Given the description of an element on the screen output the (x, y) to click on. 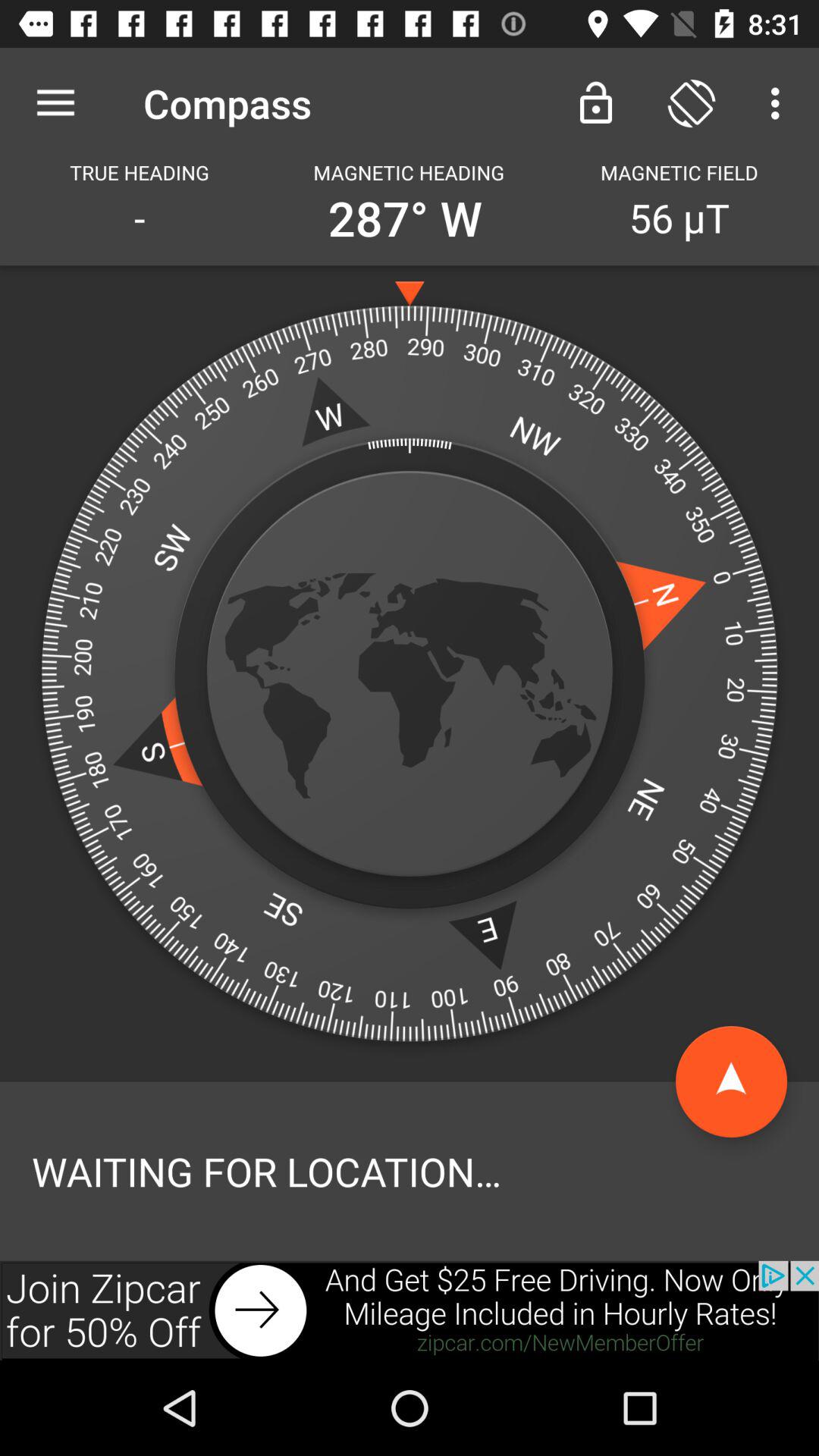
advertisement (409, 1310)
